Given the description of an element on the screen output the (x, y) to click on. 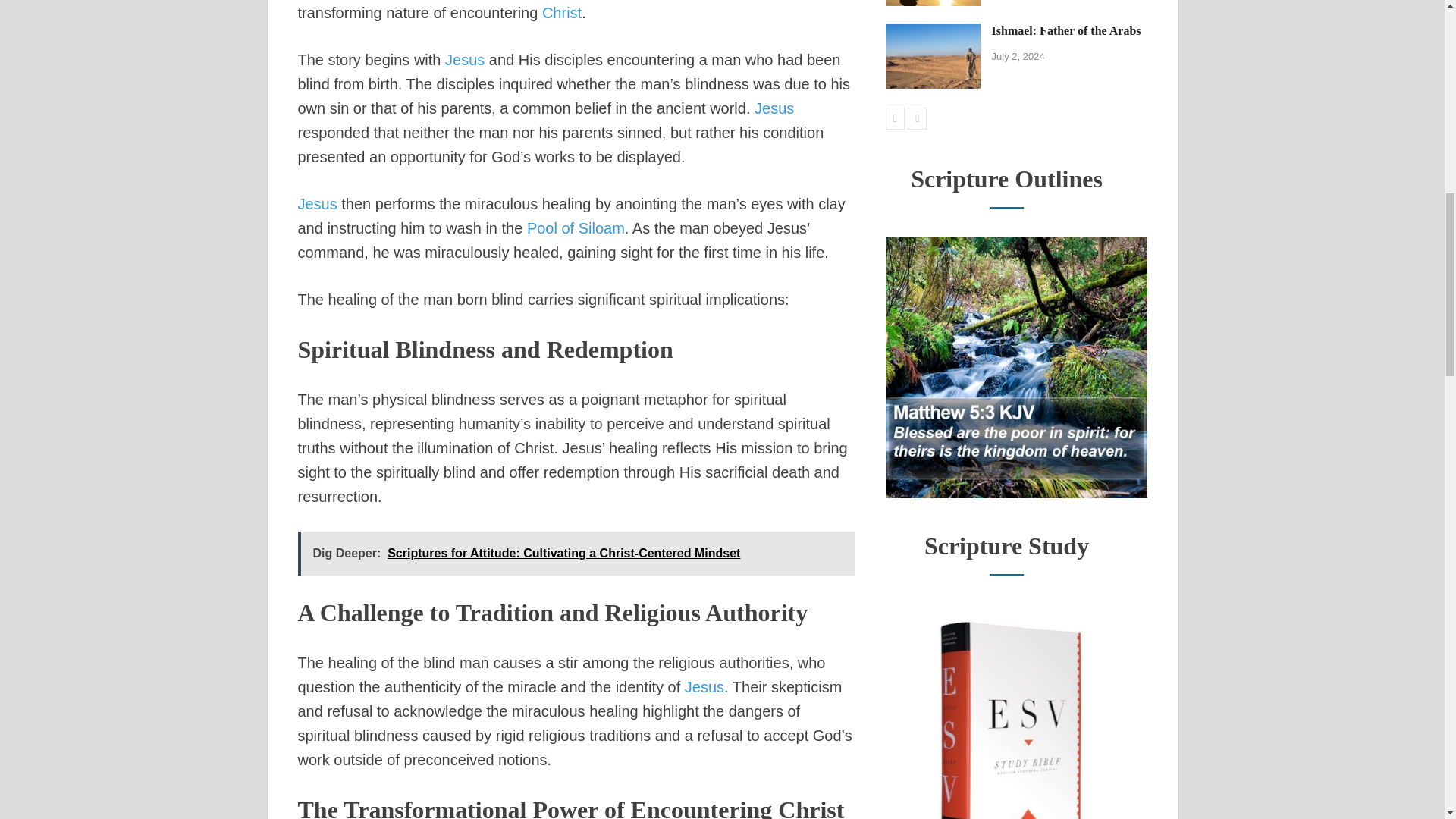
Jesus (464, 59)
Christ (560, 12)
Jesus (316, 203)
Pool of Siloam (575, 228)
Jesus (703, 686)
Jesus (773, 108)
